Given the description of an element on the screen output the (x, y) to click on. 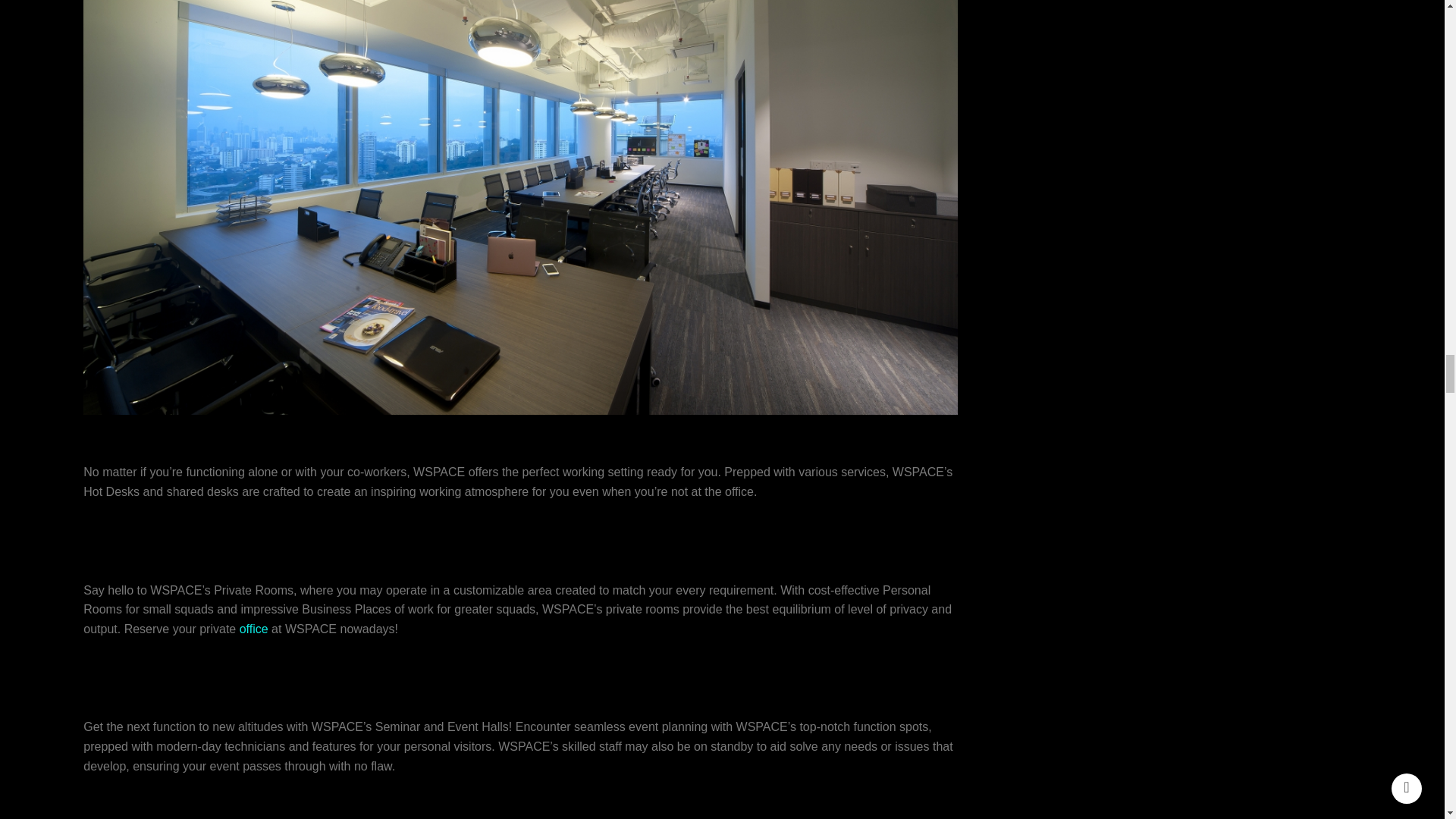
WSPACE GTower, 1st and only Sky Garden Coworking Space (121, 805)
